Given the description of an element on the screen output the (x, y) to click on. 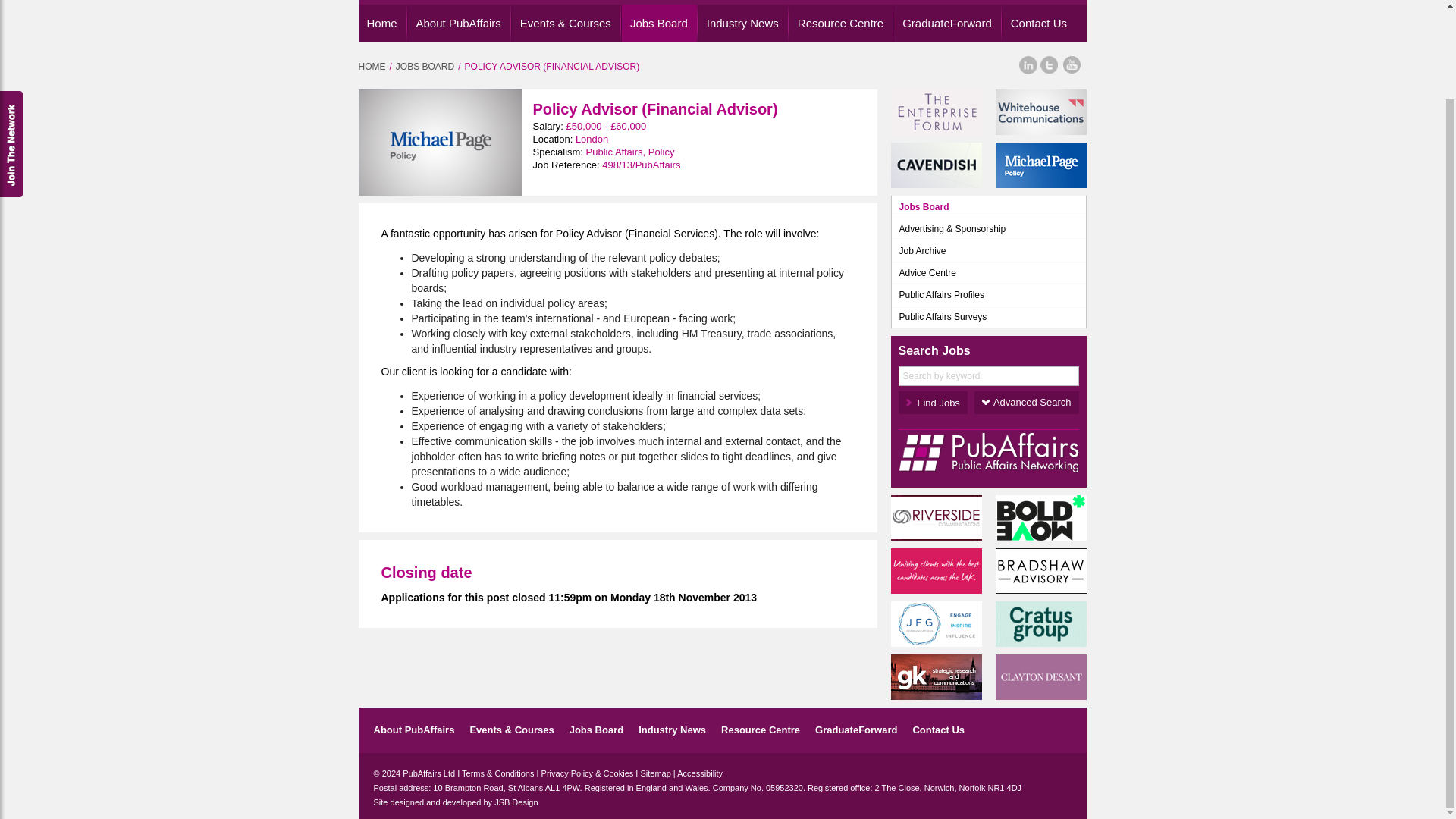
Home (382, 23)
Follow PubAffairs on Youtube (1071, 65)
About PubAffairs (459, 23)
Jobs Board (659, 23)
Follow PubAffairs on Twitter (1048, 65)
Find Jobs (932, 402)
Connect with PubAffairs on LinkedIn (1026, 65)
